Given the description of an element on the screen output the (x, y) to click on. 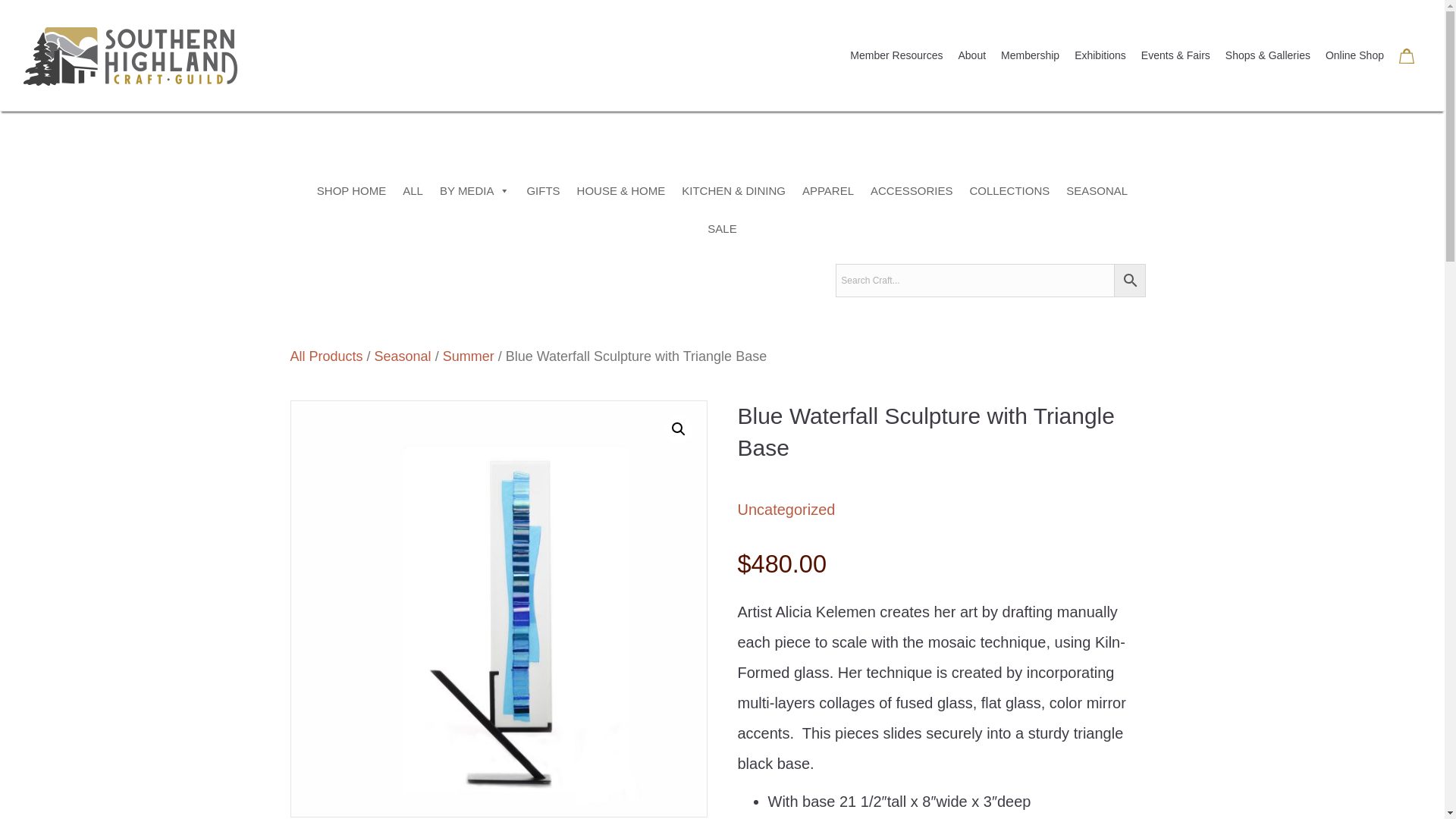
Exhibitions (1100, 55)
About (972, 55)
ALL (412, 190)
Membership (1029, 55)
SHOP HOME (351, 190)
BY MEDIA (474, 190)
Member Resources (896, 55)
Online Shop (1354, 55)
